Given the description of an element on the screen output the (x, y) to click on. 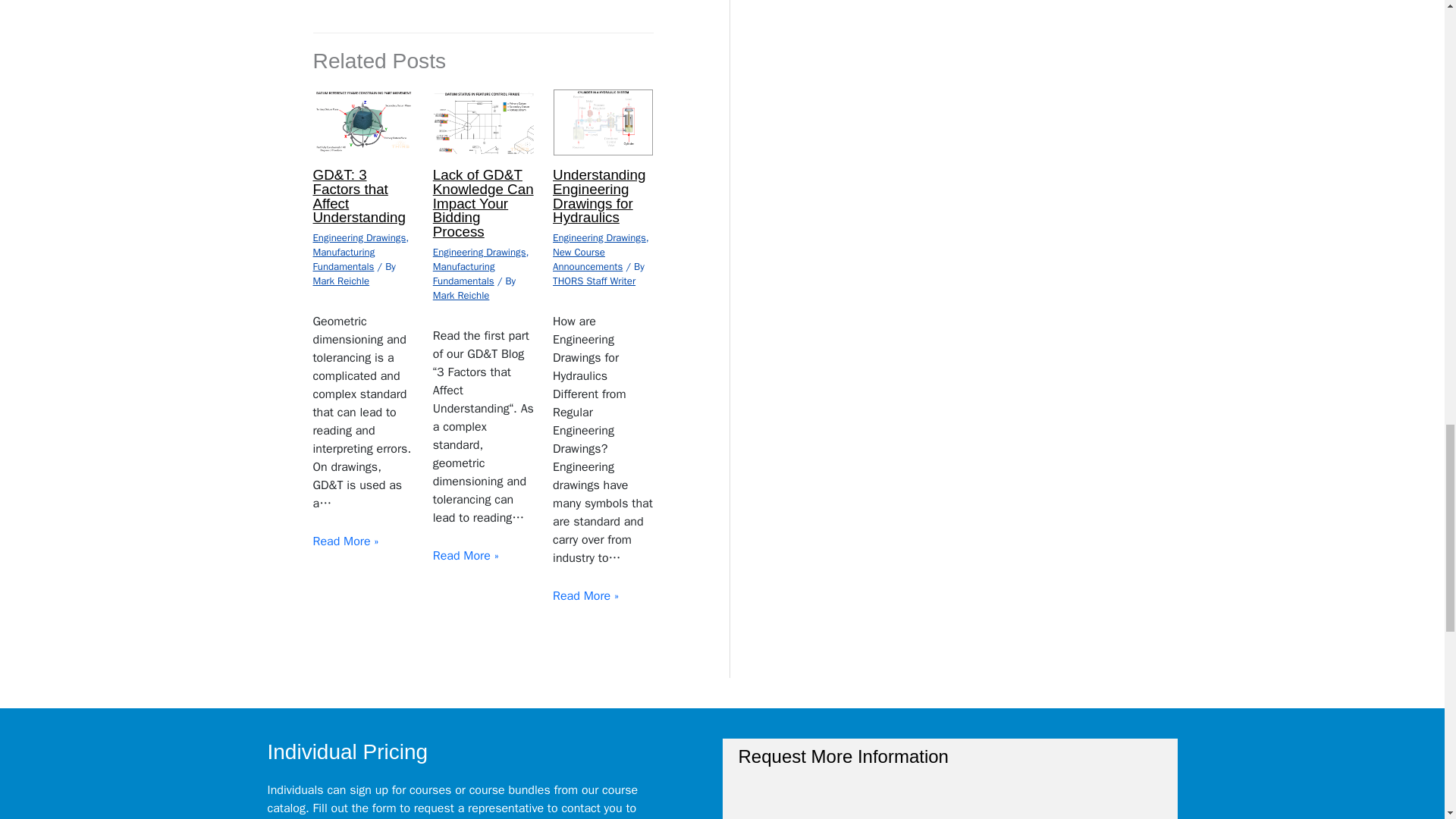
View all posts by Mark Reichle (460, 295)
View all posts by THORS Staff Writer (593, 280)
View all posts by Mark Reichle (341, 280)
